Given the description of an element on the screen output the (x, y) to click on. 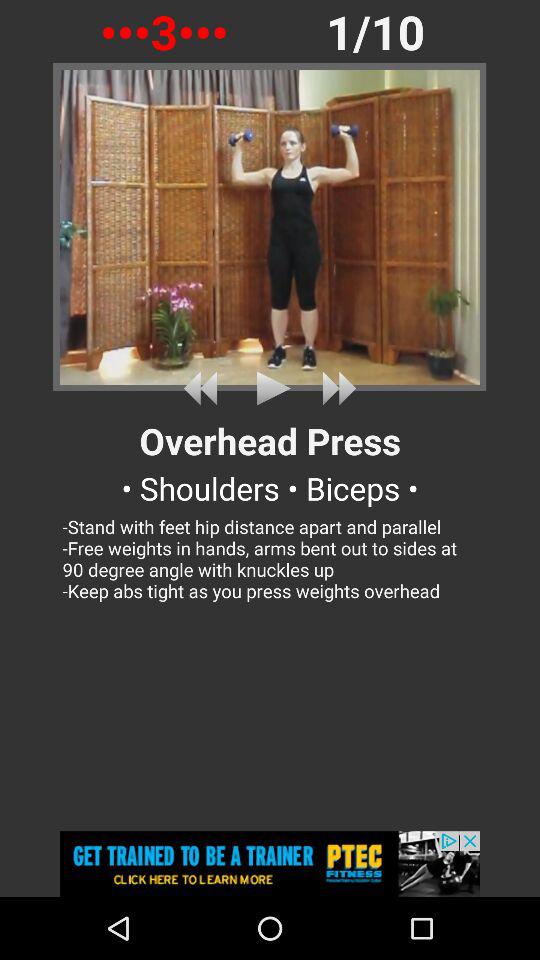
play the video (269, 388)
